Given the description of an element on the screen output the (x, y) to click on. 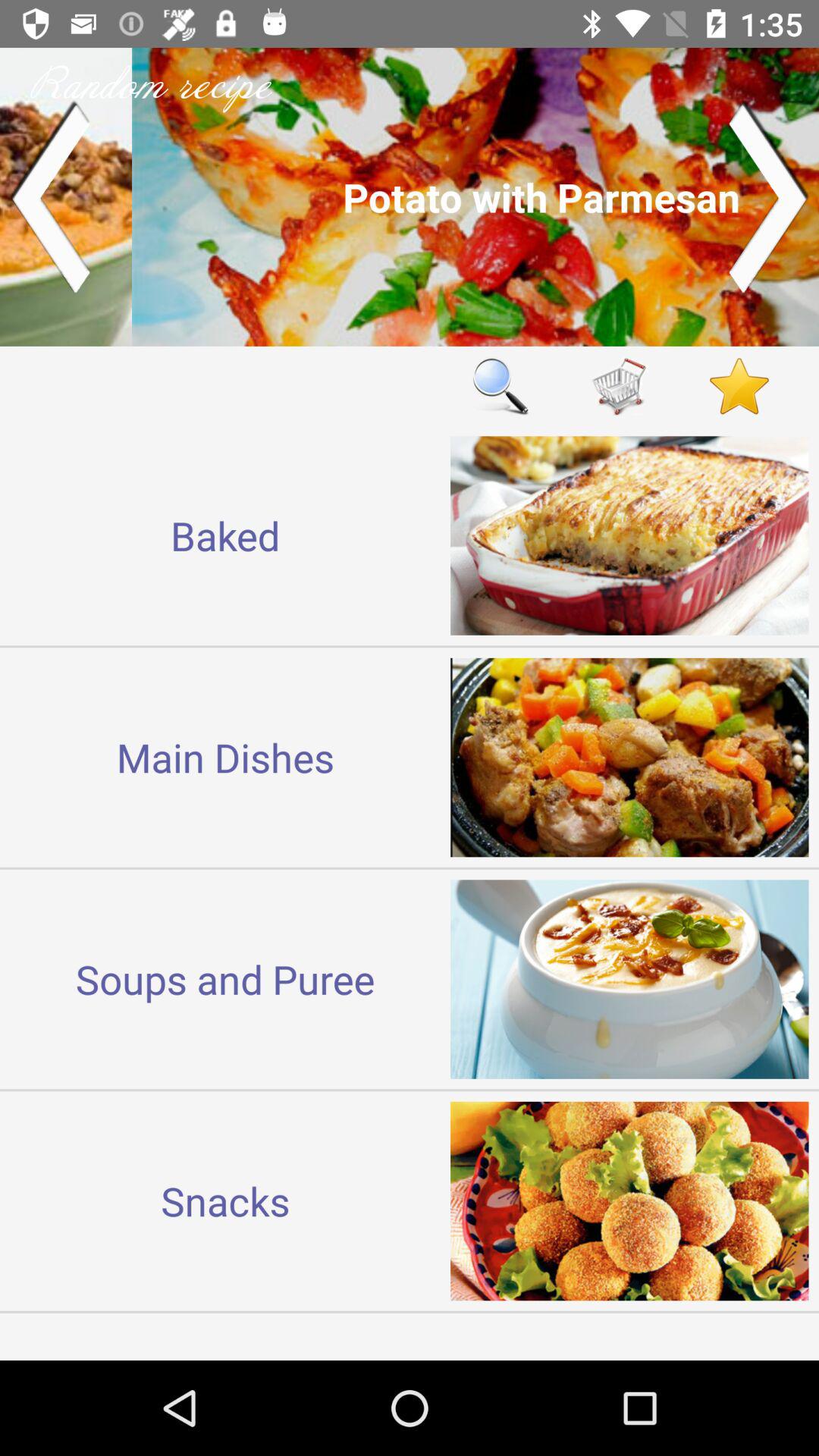
next option (769, 196)
